Given the description of an element on the screen output the (x, y) to click on. 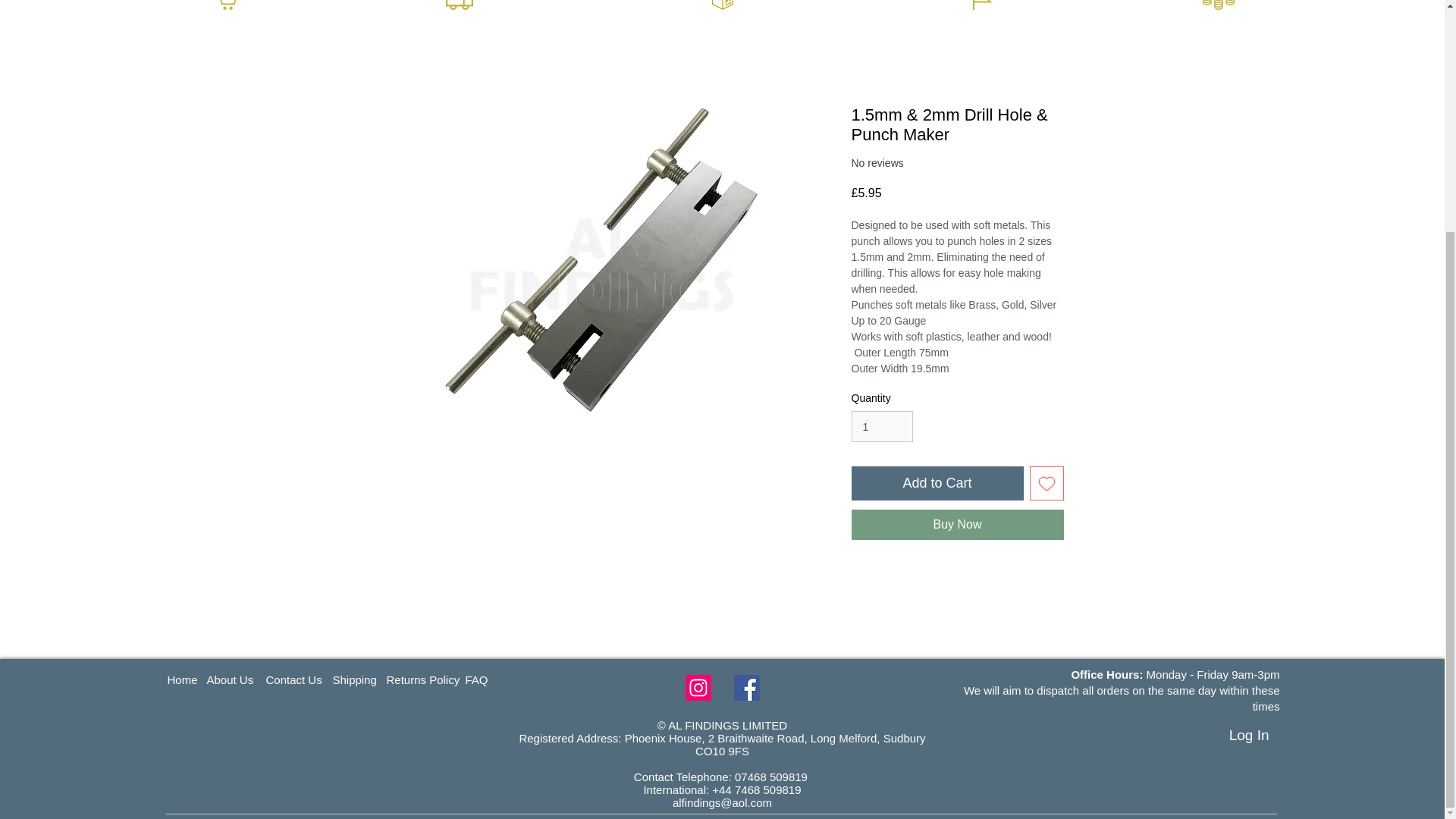
Returns Policy (442, 679)
1 (881, 426)
Home (199, 679)
About Us (252, 679)
Shipping (387, 679)
Buy Now (956, 524)
Log In (1248, 736)
Contact Us (320, 679)
Add to Cart (936, 483)
FAQ (486, 679)
